Given the description of an element on the screen output the (x, y) to click on. 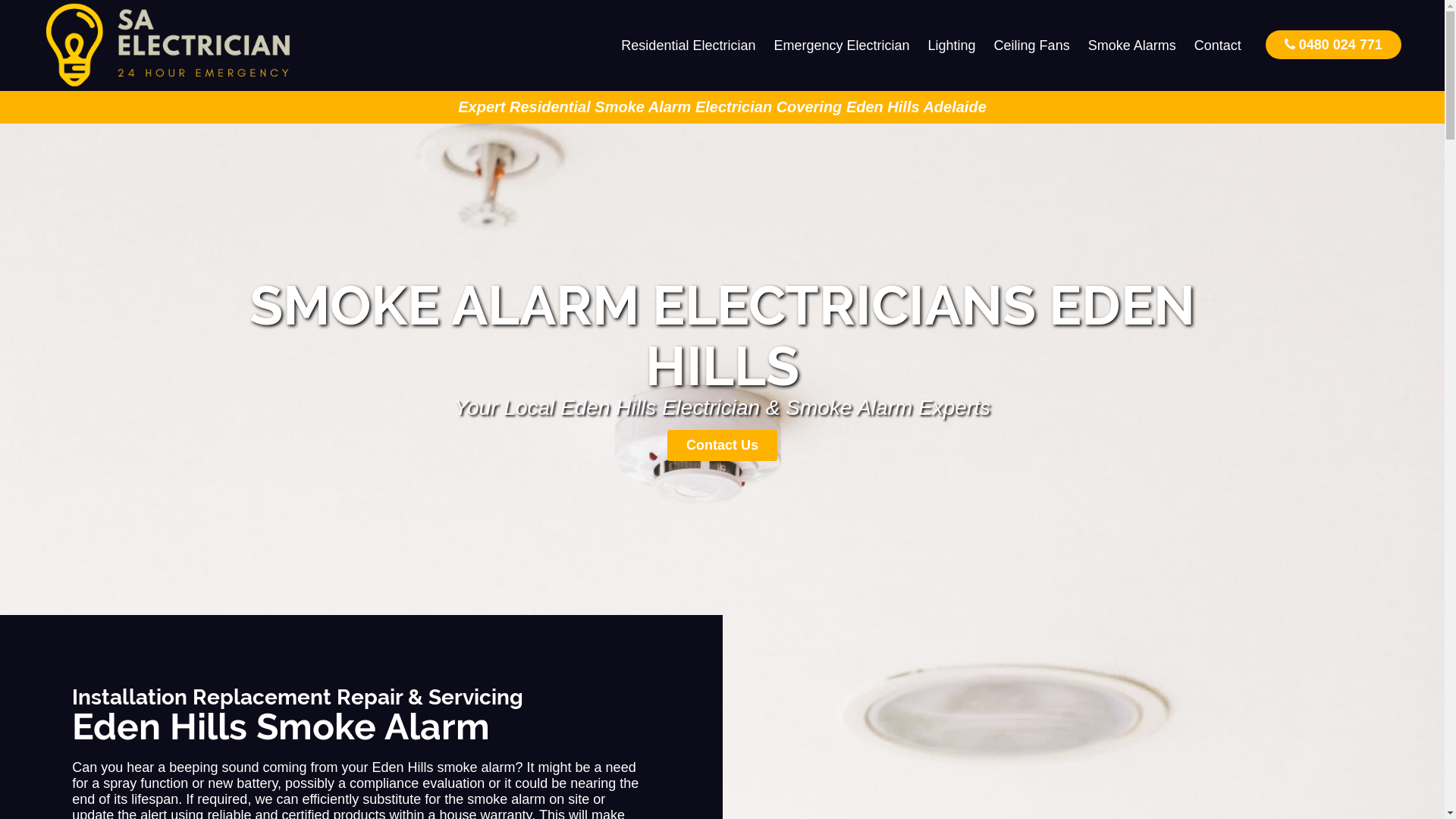
Contact Element type: text (1217, 45)
Lighting Element type: text (952, 45)
Emergency Electrician Element type: text (841, 45)
Ceiling Fans Element type: text (1032, 45)
Smoke Alarms Element type: text (1132, 45)
Residential Electrician Element type: text (687, 45)
Contact Us Element type: text (722, 445)
0480 024 771 Element type: text (1333, 44)
